Given the description of an element on the screen output the (x, y) to click on. 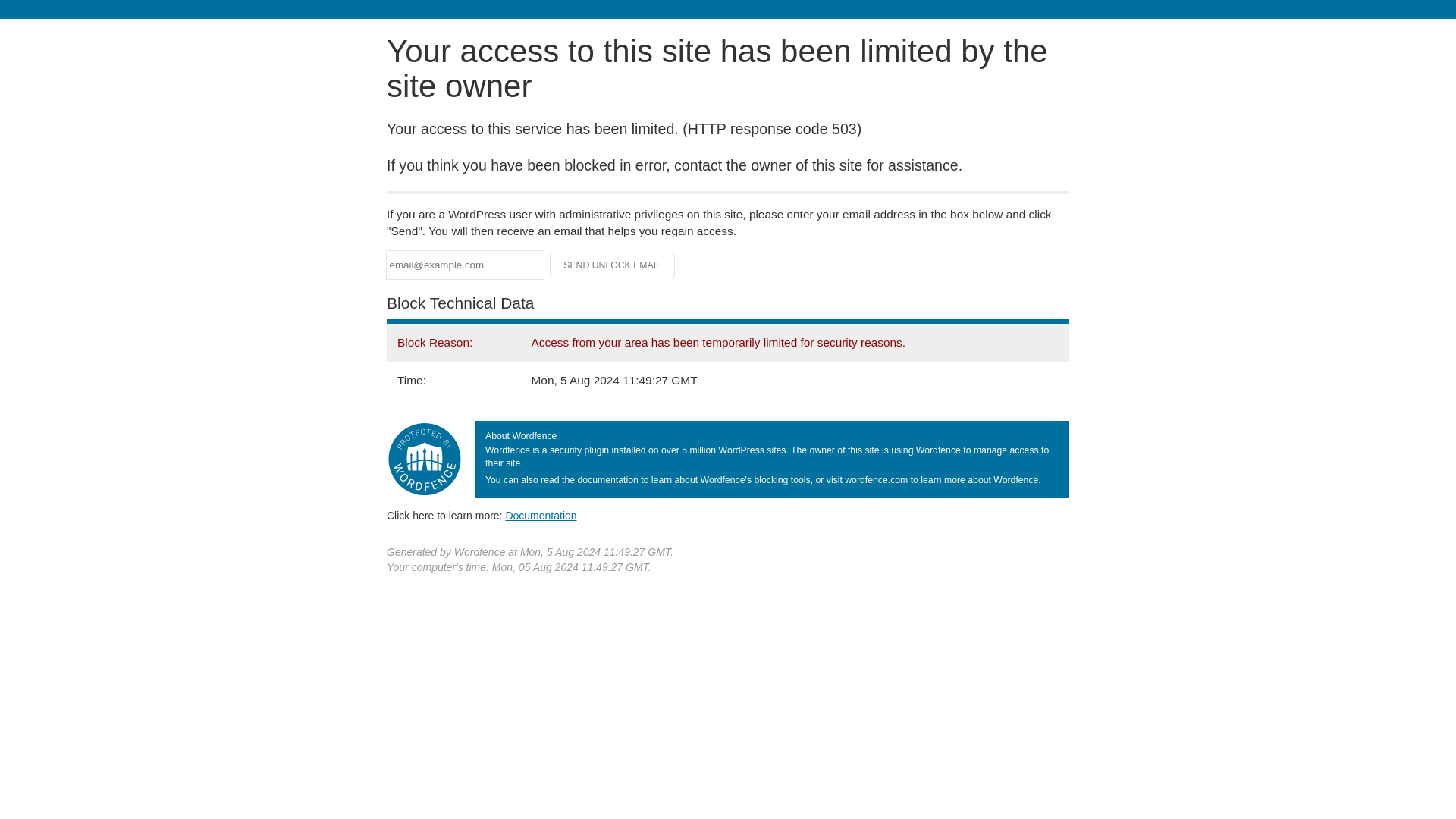
Send Unlock Email (612, 265)
Send Unlock Email (612, 265)
Documentation (540, 515)
